Given the description of an element on the screen output the (x, y) to click on. 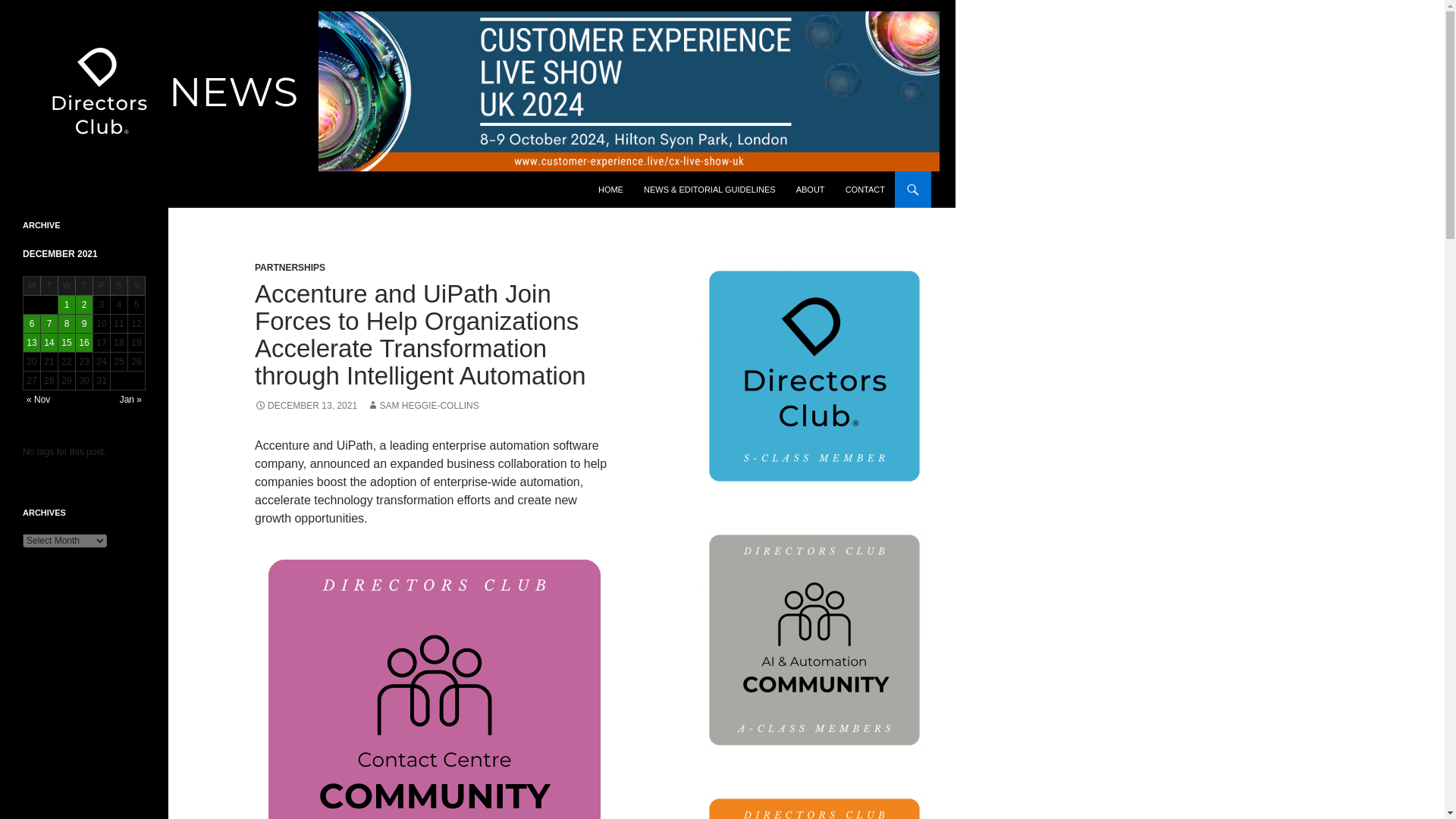
DECEMBER 13, 2021 (305, 405)
6 (31, 323)
Sunday (136, 285)
15 (66, 342)
Friday (101, 285)
ABOUT (810, 189)
2 (84, 304)
Saturday (119, 285)
Thursday (84, 285)
16 (84, 342)
